Given the description of an element on the screen output the (x, y) to click on. 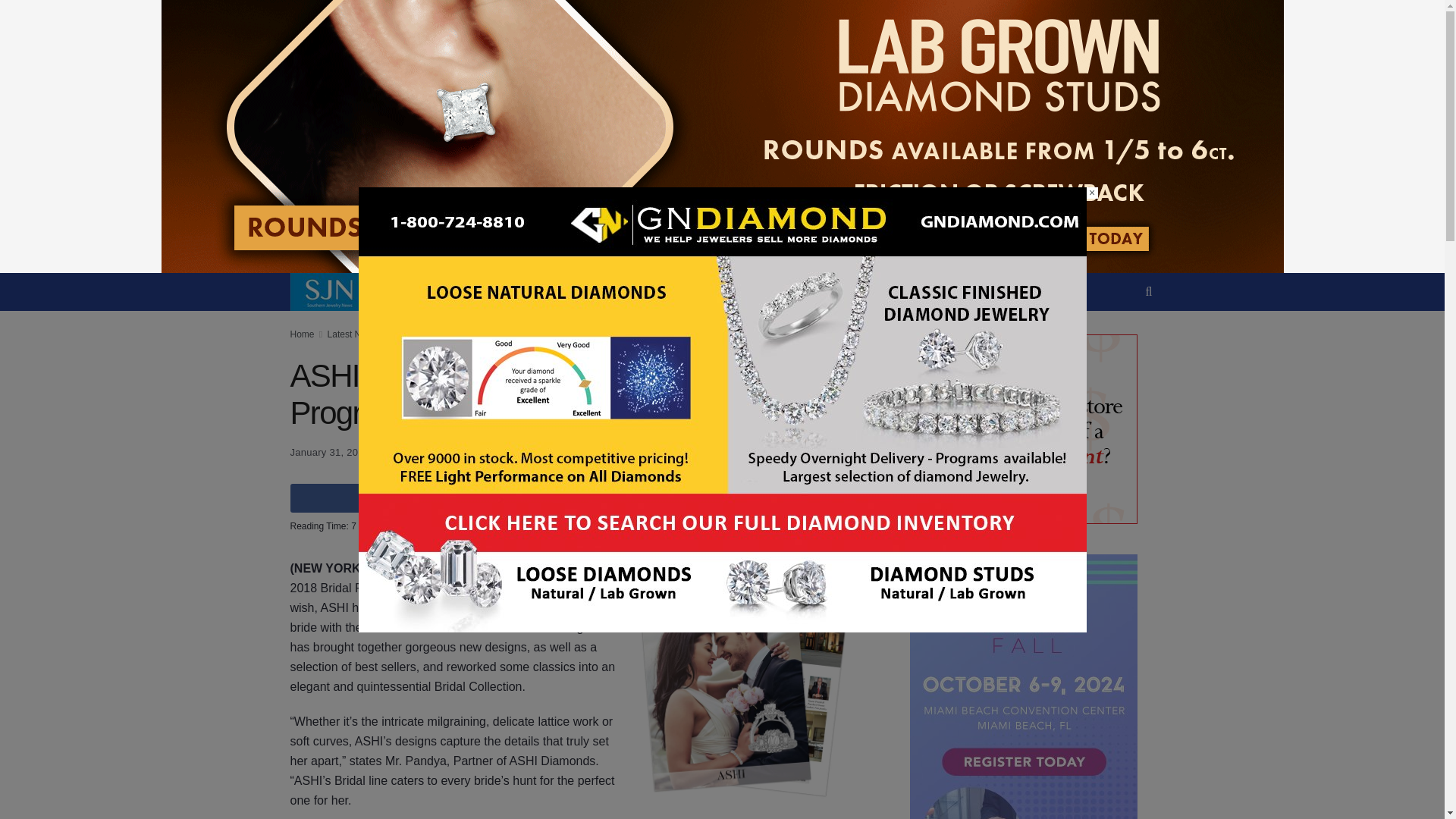
FEATURED (508, 272)
close (1091, 192)
LATEST NEWS (599, 272)
